Given the description of an element on the screen output the (x, y) to click on. 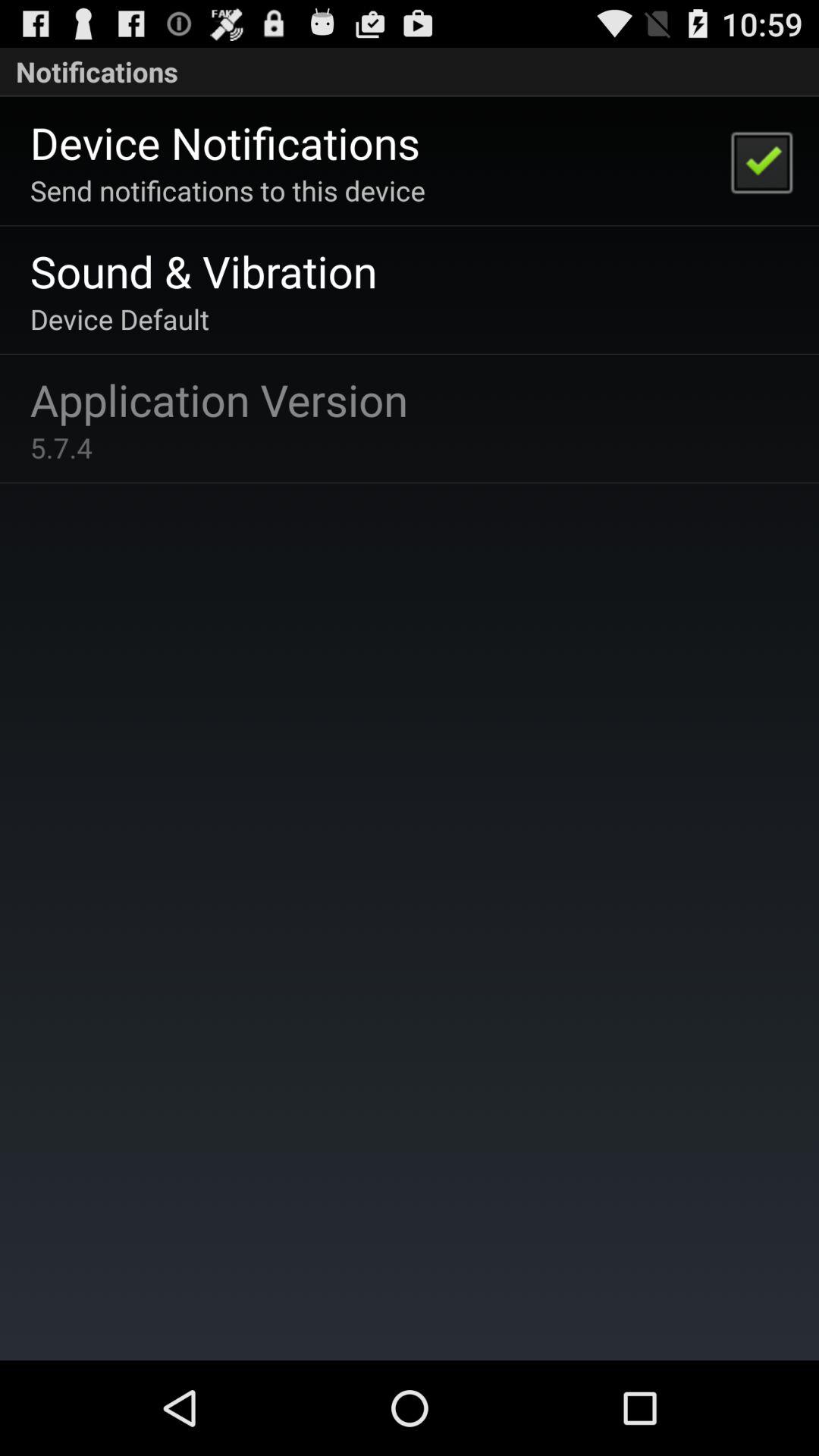
open the icon above device default (203, 270)
